Given the description of an element on the screen output the (x, y) to click on. 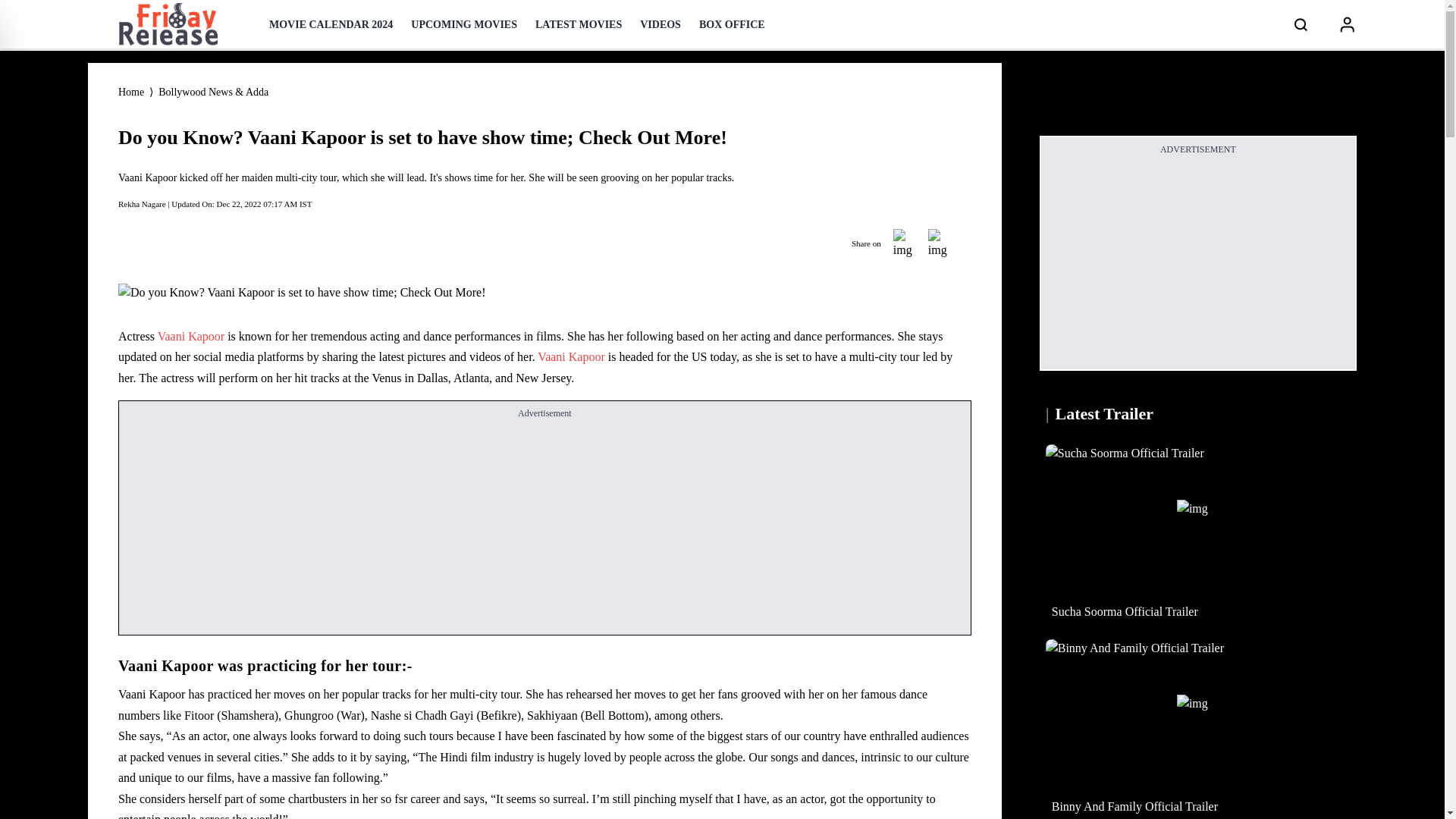
VIDEOS (660, 24)
LATEST MOVIES (578, 24)
Share on (905, 244)
BOX OFFICE (731, 24)
UPCOMING MOVIES (463, 24)
MOVIE CALENDAR 2024 (331, 24)
